Given the description of an element on the screen output the (x, y) to click on. 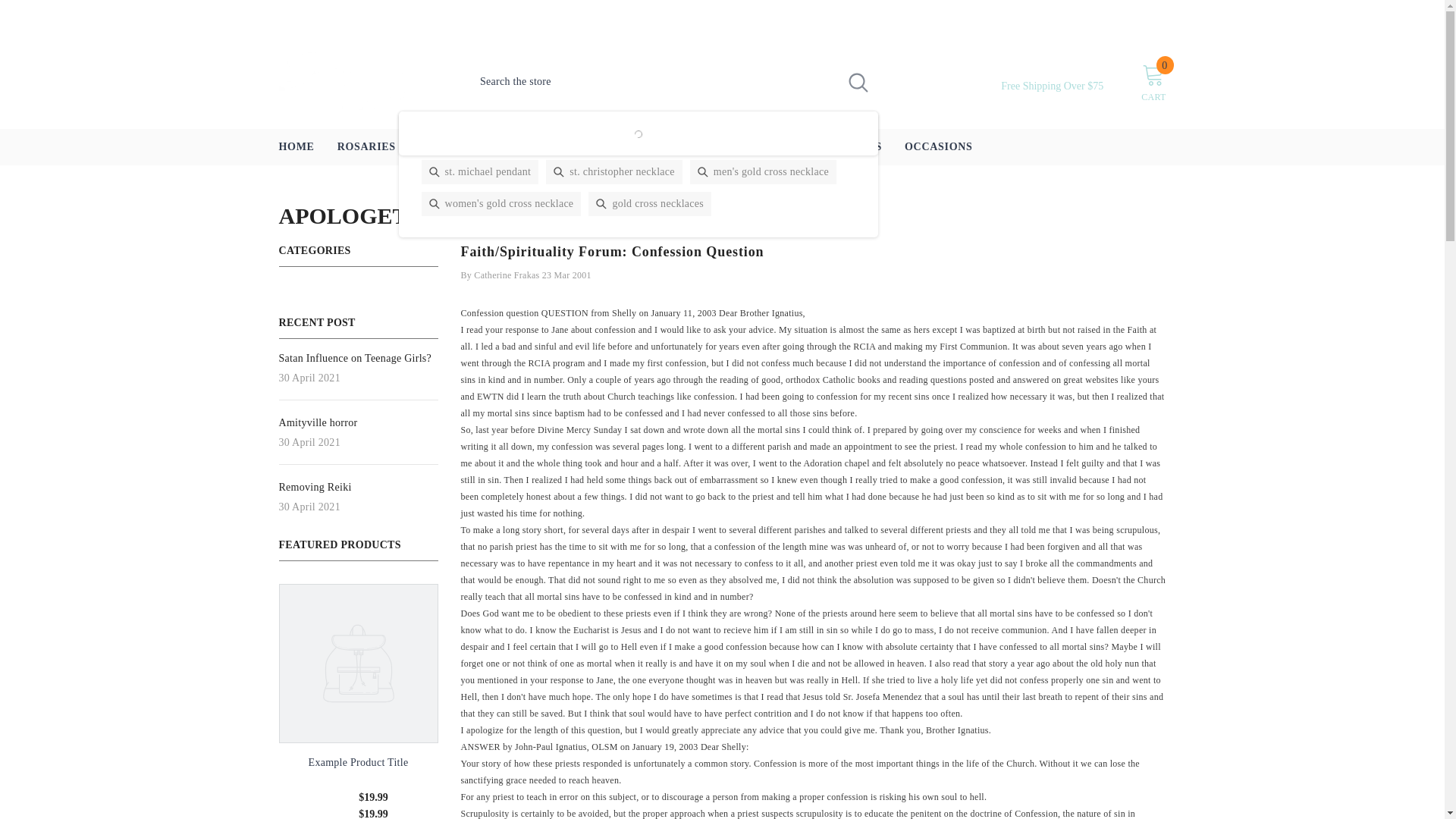
STATUES (762, 146)
PENDANTS (449, 146)
CROSS NECKLACES (559, 146)
CRUCIFIXES (846, 146)
OCCASIONS (938, 146)
HOME (295, 146)
ROSARIES (366, 146)
WALL DECOR (676, 146)
